Given the description of an element on the screen output the (x, y) to click on. 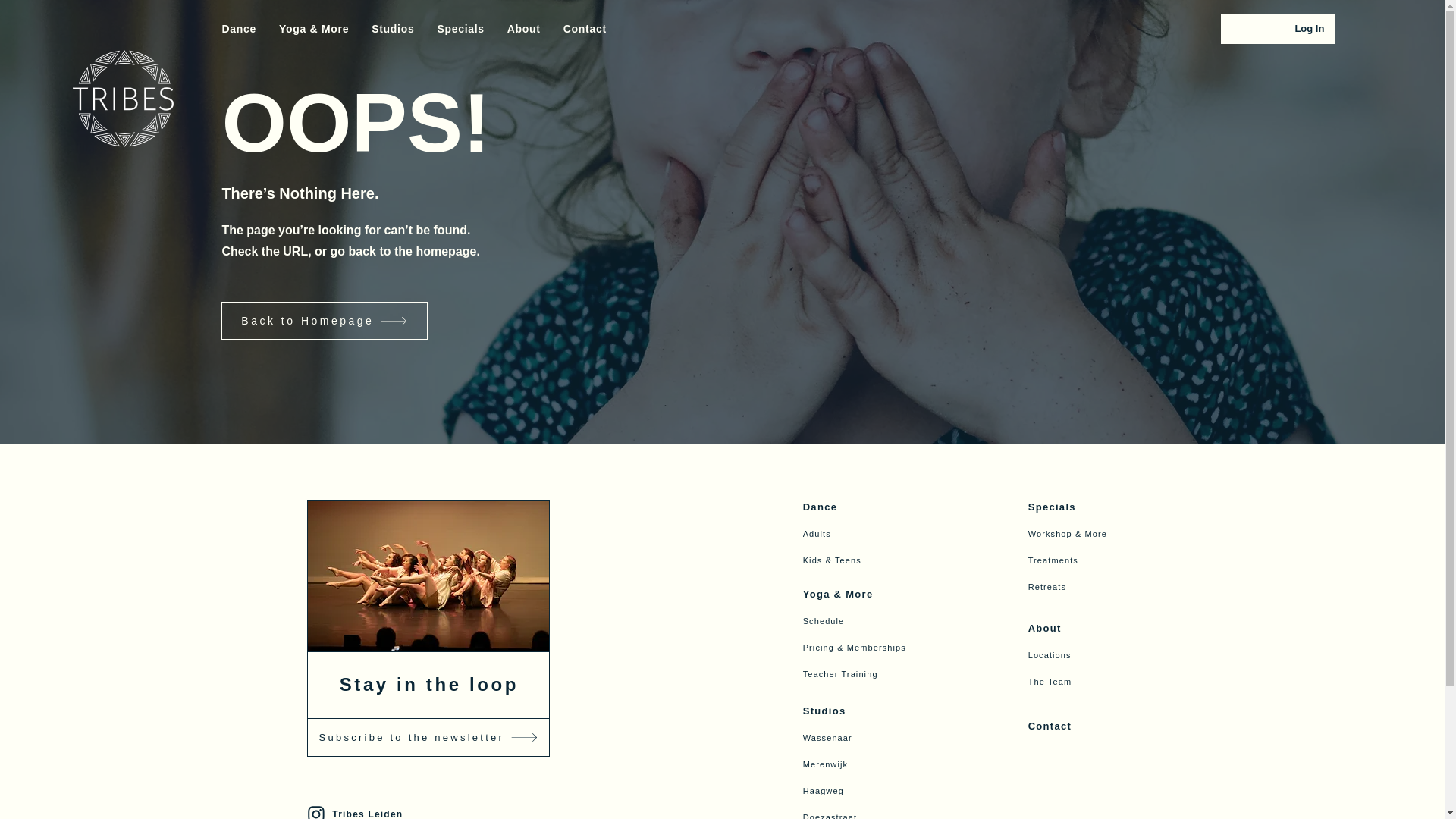
Haagweg (885, 790)
Contact (585, 28)
Wassenaar (885, 737)
Specials (459, 28)
Subscribe to the newsletter (428, 737)
Dance (238, 28)
About (523, 28)
Log In (1309, 28)
Adults (885, 533)
Merenwijk (885, 764)
Studios (885, 710)
Dance (885, 506)
Schedule (885, 620)
Tribes Leiden (426, 810)
Teacher Training (885, 673)
